Given the description of an element on the screen output the (x, y) to click on. 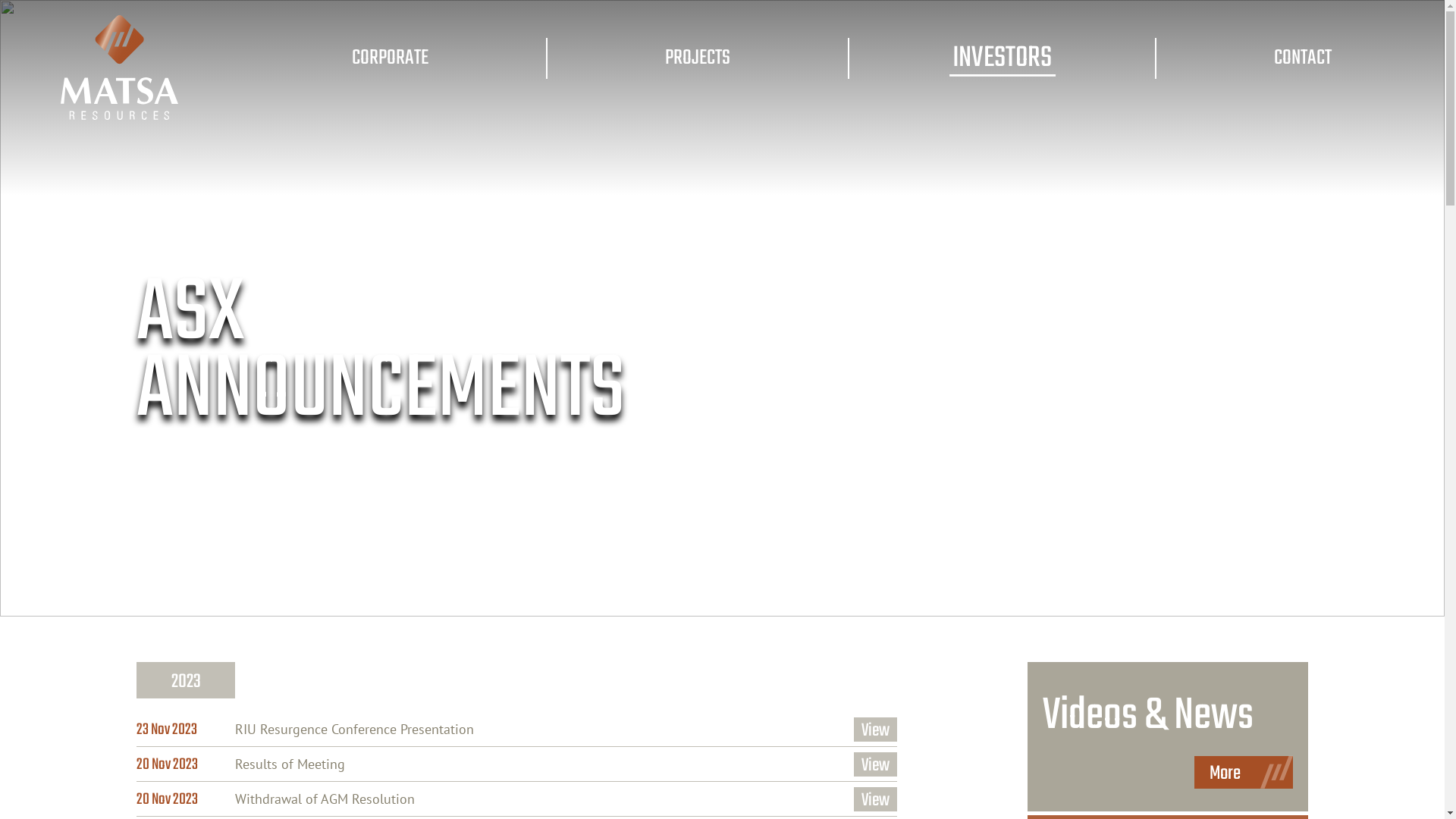
CONTACT Element type: text (1302, 57)
More Element type: text (1243, 772)
Skip to primary navigation Element type: text (0, 0)
INVESTORS Element type: text (942, 49)
Results of Meeting Element type: text (290, 763)
CORPORATE Element type: text (389, 57)
PROJECTS Element type: text (697, 57)
RIU Resurgence Conference Presentation Element type: text (354, 728)
Withdrawal of AGM Resolution Element type: text (324, 798)
